Given the description of an element on the screen output the (x, y) to click on. 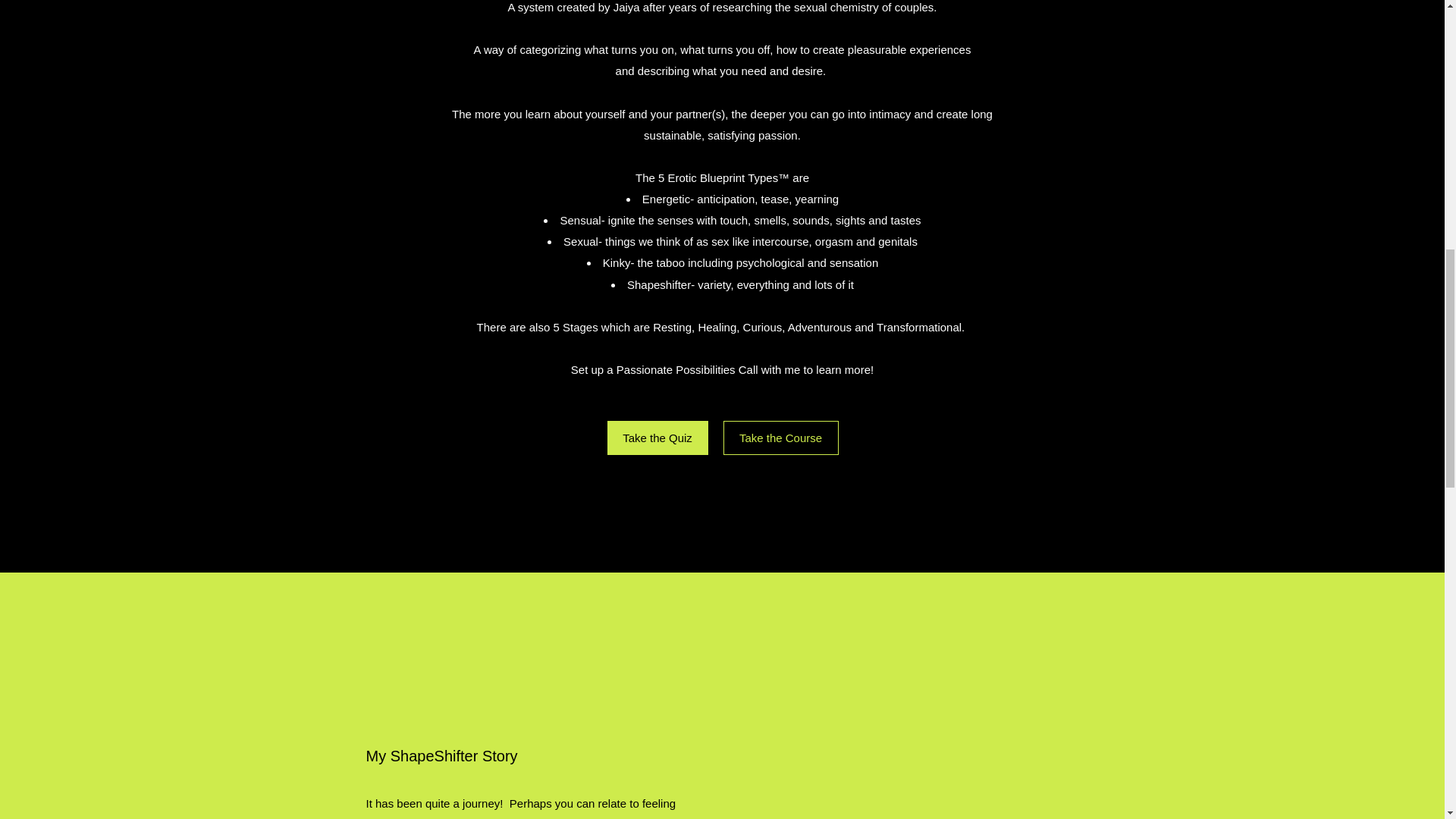
Take the Quiz (657, 437)
Take the Course (780, 437)
